Given the description of an element on the screen output the (x, y) to click on. 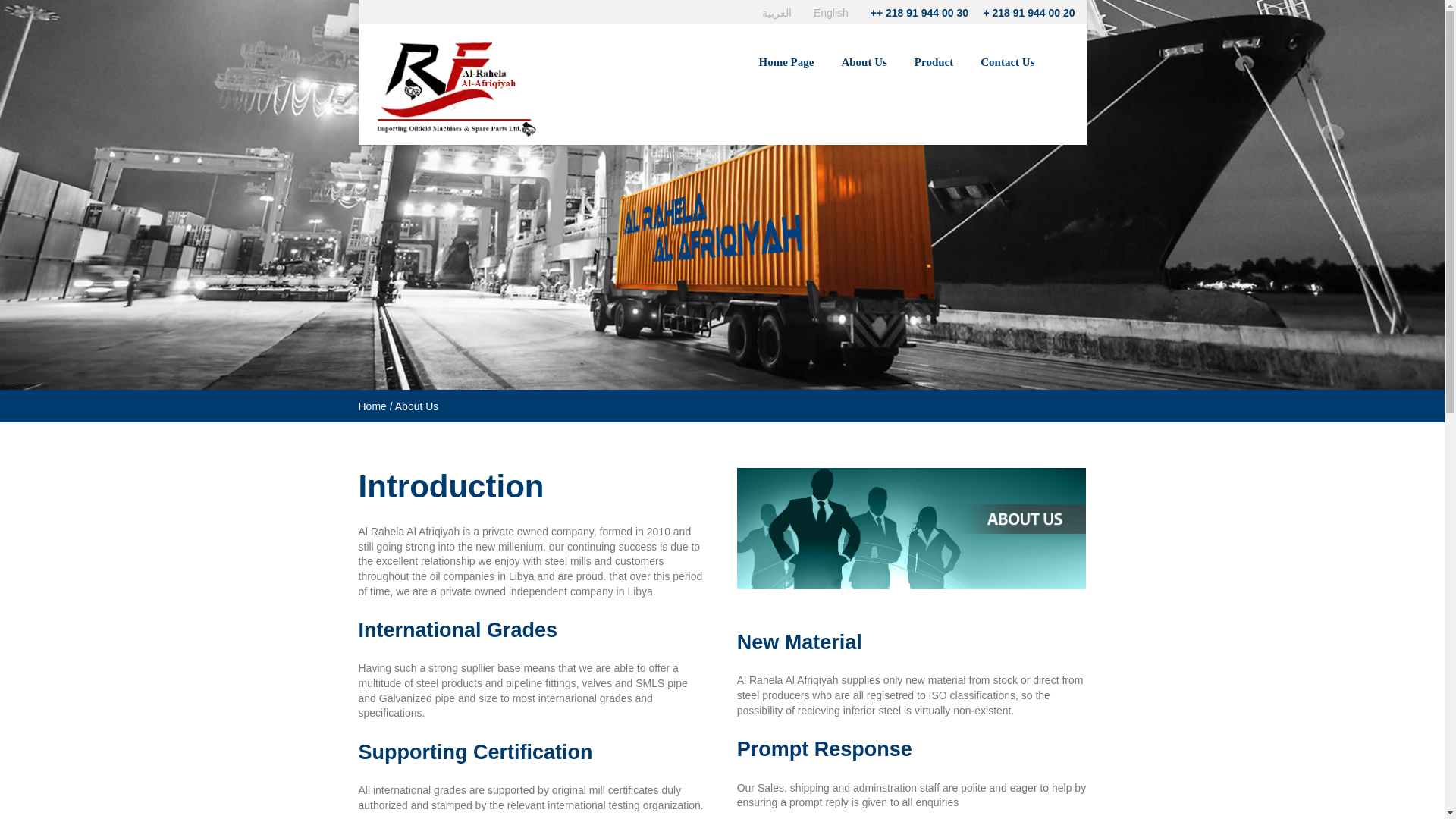
About Us (863, 58)
Contact Us (1006, 58)
Home (371, 406)
Product (933, 58)
Home Page (785, 58)
English (830, 12)
